Given the description of an element on the screen output the (x, y) to click on. 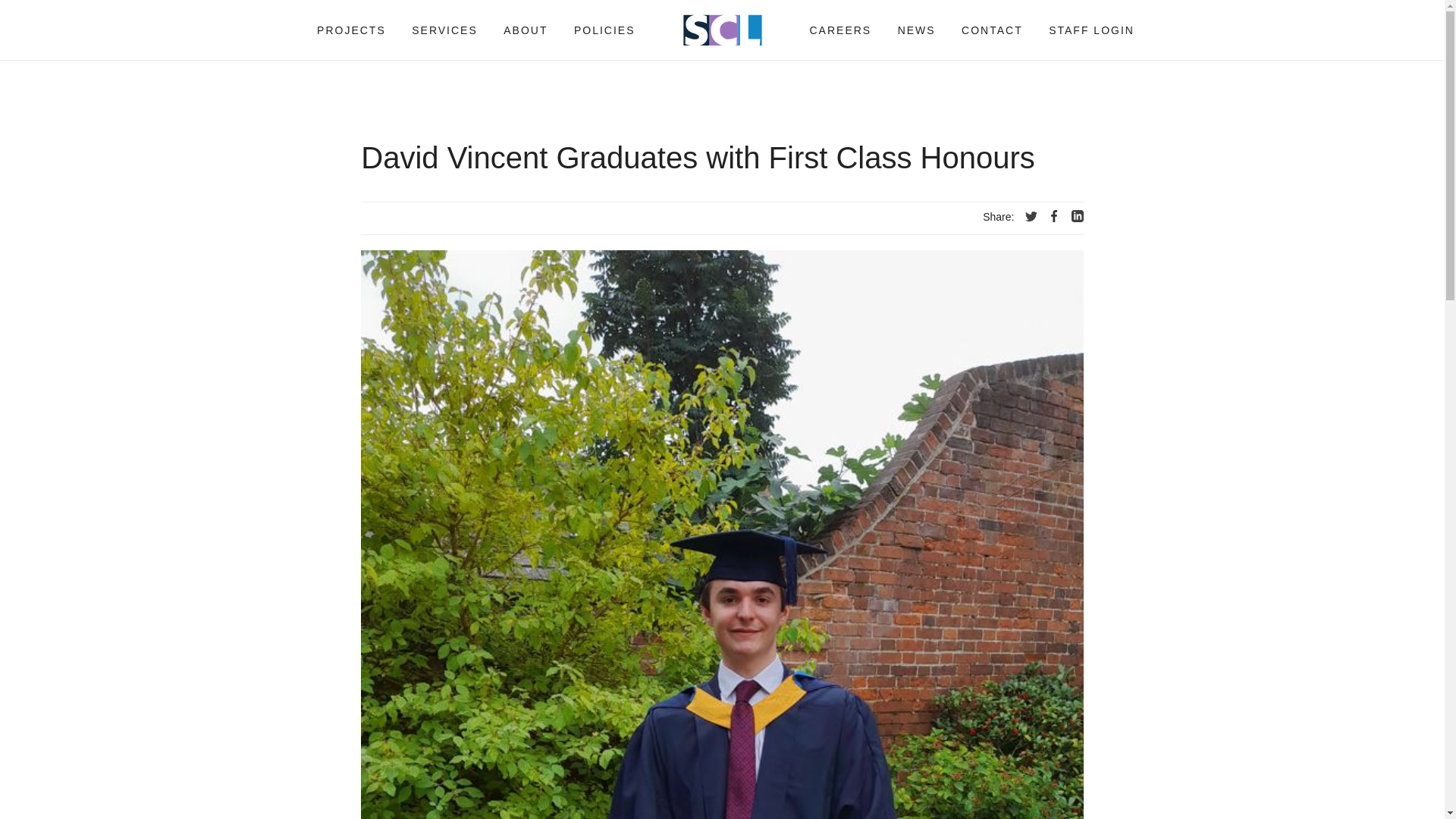
Twitter (1030, 215)
CAREERS (840, 30)
PROJECTS (351, 30)
ABOUT (525, 30)
NEWS (916, 30)
Facebook (1053, 215)
STAFF LOGIN (1091, 30)
SERVICES (444, 30)
CONTACT (992, 30)
POLICIES (604, 30)
LinkedIn (1077, 215)
SCL Interiors (721, 30)
